Given the description of an element on the screen output the (x, y) to click on. 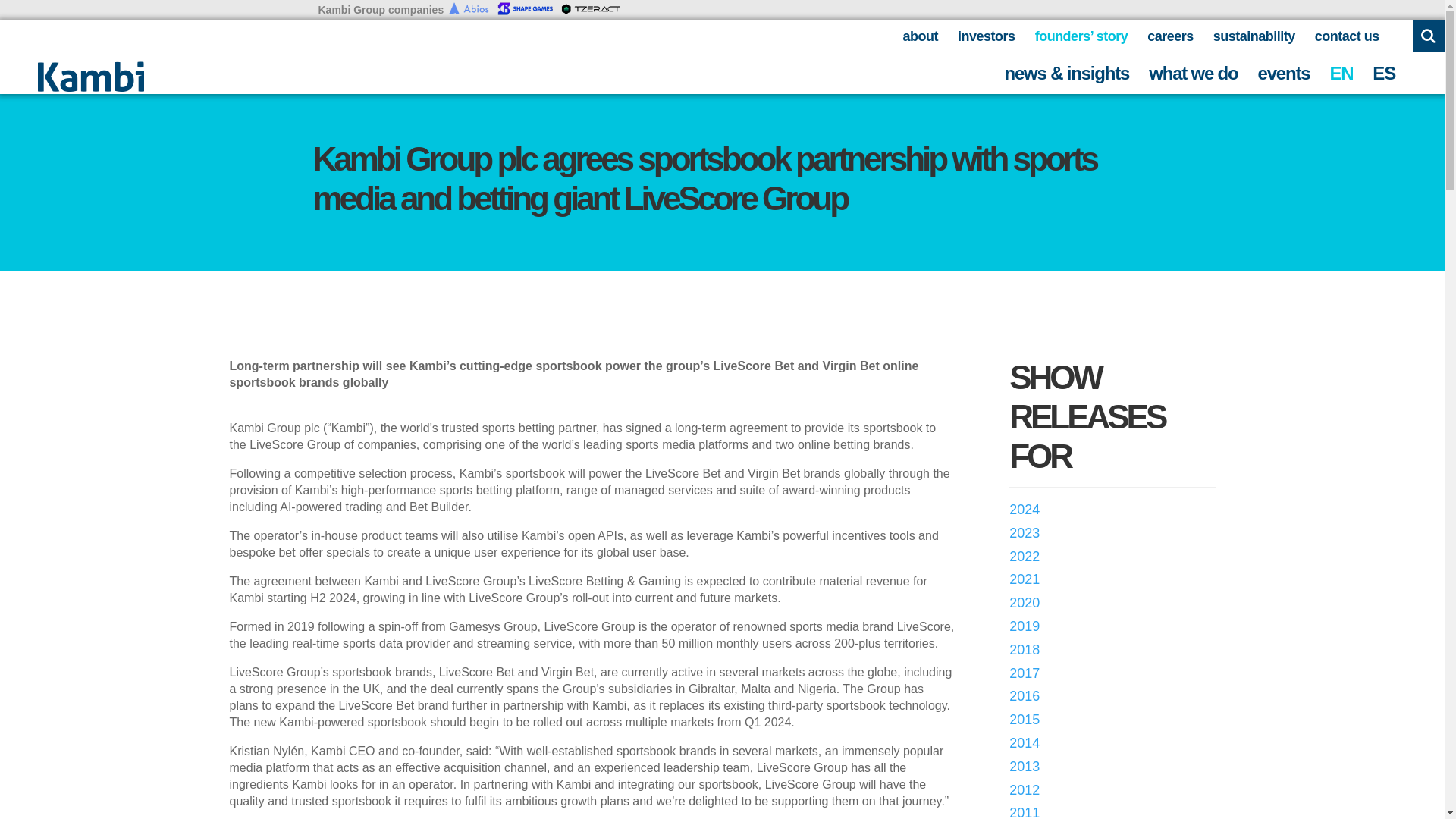
ES (1383, 73)
about (921, 36)
kambi-retina (90, 76)
contact us (1346, 36)
sustainability (1254, 36)
EN (1340, 73)
investors (986, 36)
careers (1170, 36)
